Given the description of an element on the screen output the (x, y) to click on. 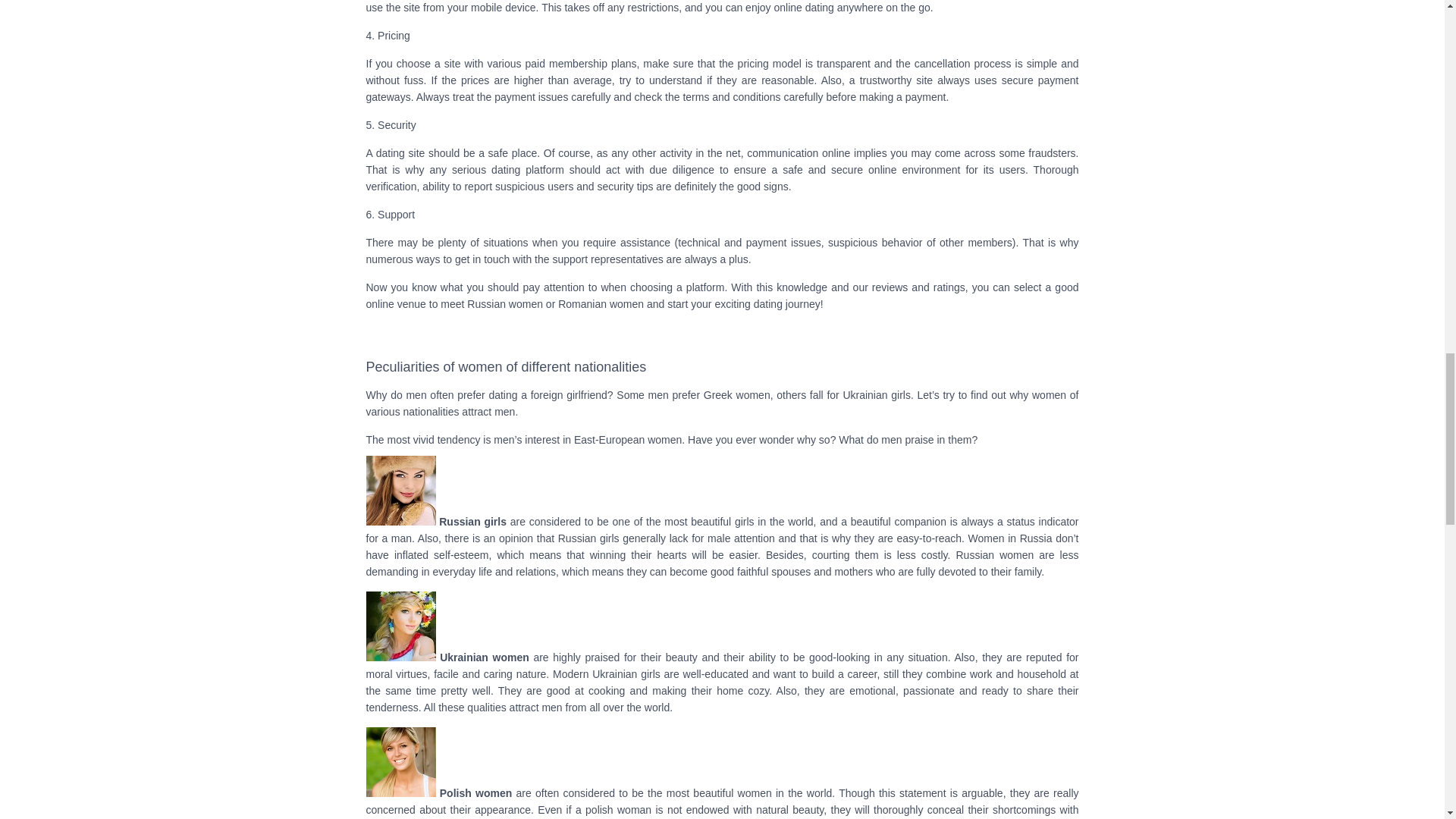
russian girls (400, 490)
polish girls (400, 761)
ukrainian girls Odessa (400, 625)
